Given the description of an element on the screen output the (x, y) to click on. 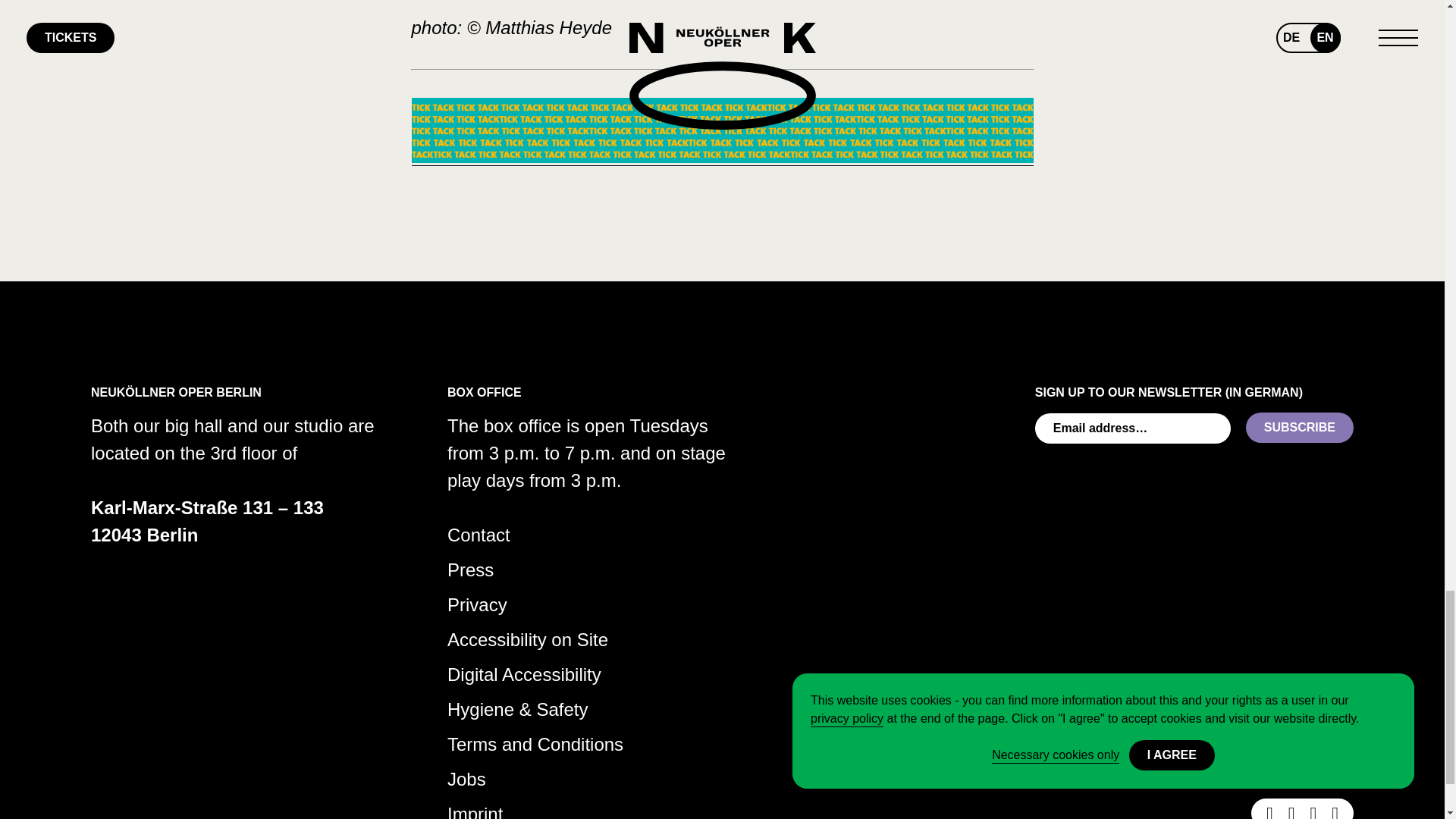
Contact (478, 535)
Privacy (476, 605)
SUBSCRIBE (1300, 427)
Accessibility on Site (527, 640)
Press (469, 570)
